Given the description of an element on the screen output the (x, y) to click on. 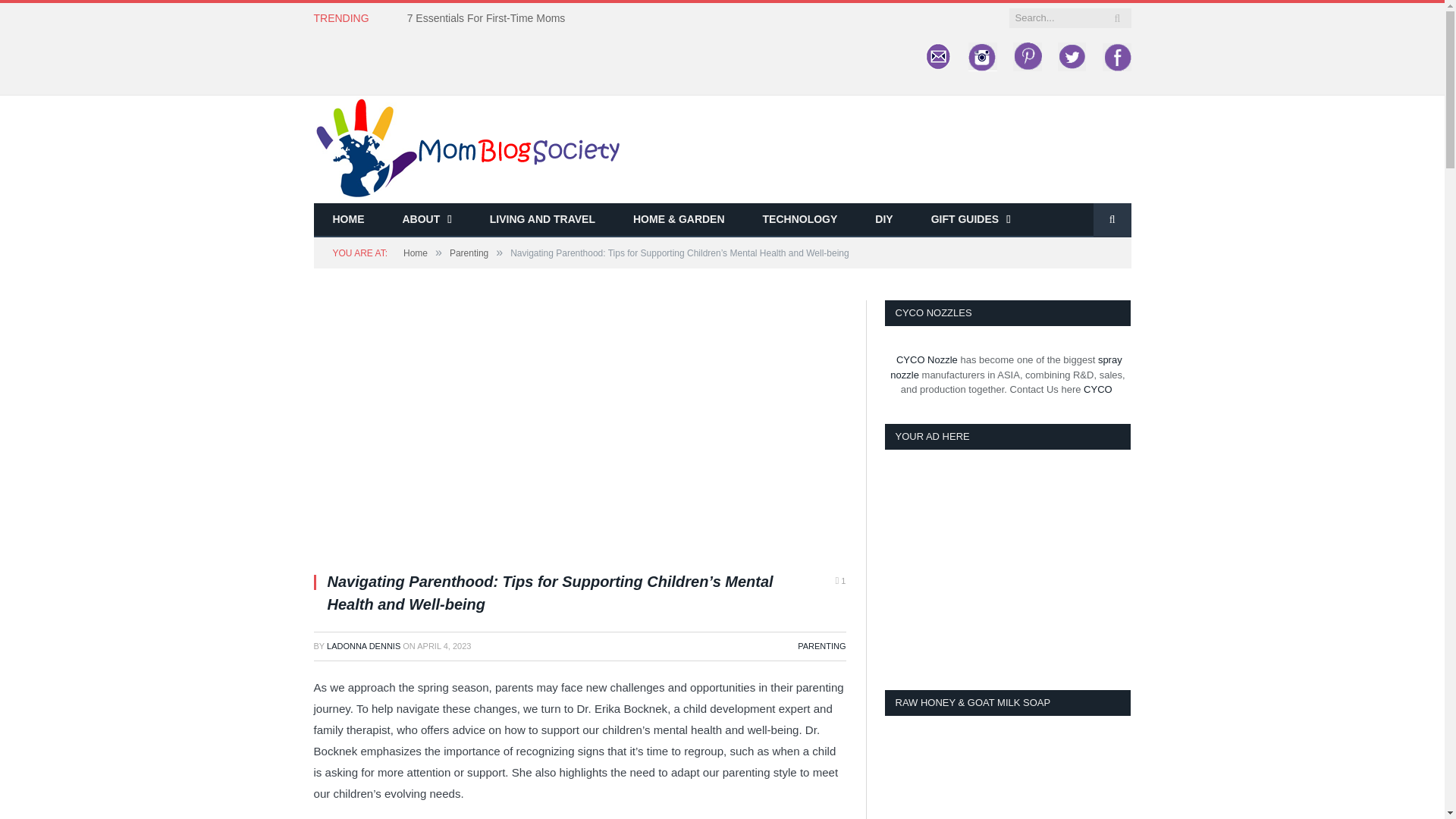
7 Essentials For First-Time Moms (490, 18)
GIFT GUIDES (970, 220)
TECHNOLOGY (800, 220)
HOME (349, 220)
LIVING AND TRAVEL (542, 220)
7 Essentials For First-Time Moms (490, 18)
DIY (883, 220)
ABOUT (427, 220)
Mom Blog Society (467, 146)
